Given the description of an element on the screen output the (x, y) to click on. 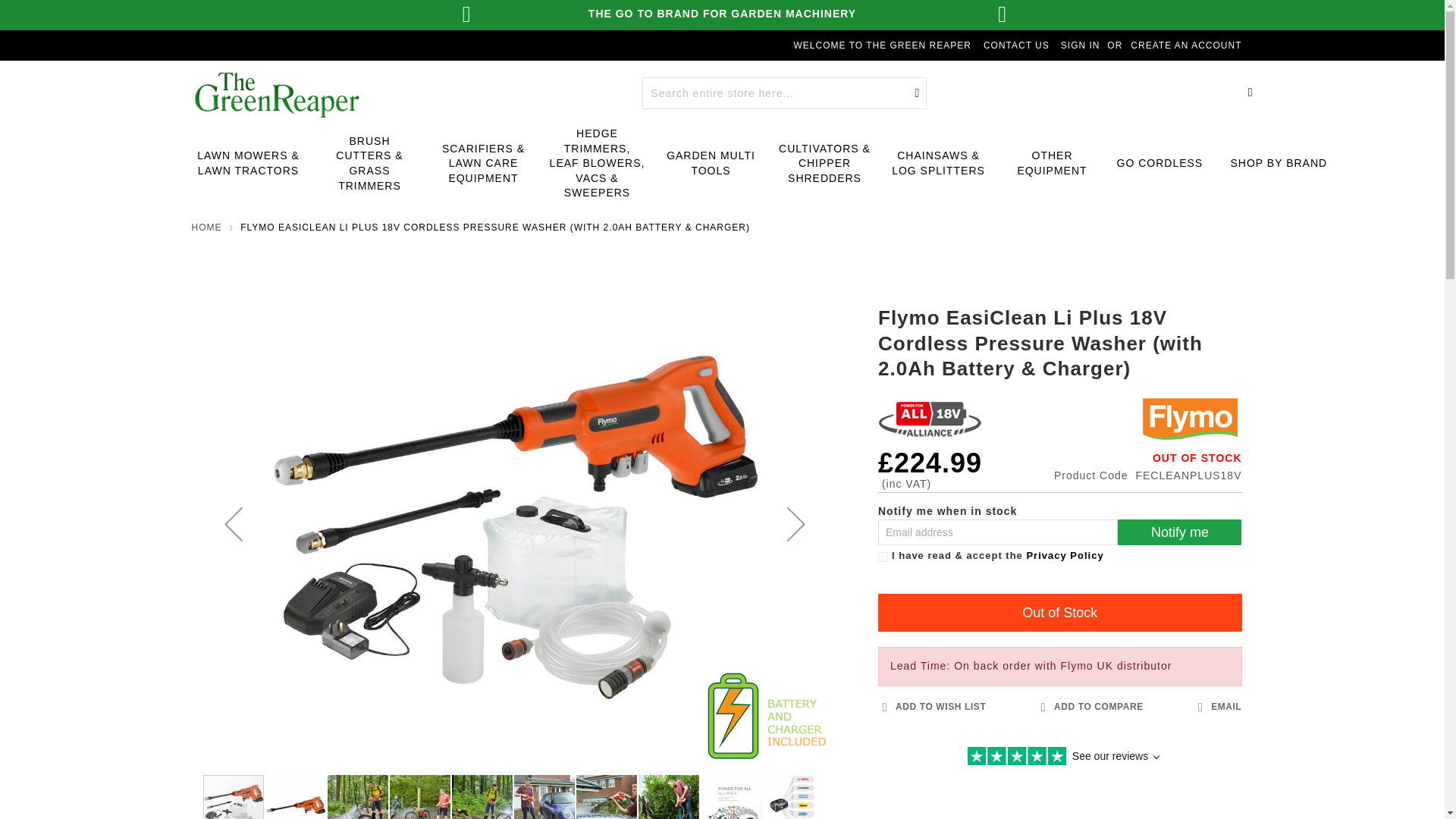
Customer reviews powered by Trustpilot (1059, 757)
SIGN IN (1080, 45)
CONTACT US (1016, 45)
CREATE AN ACCOUNT (1186, 45)
MY BASKET (1250, 92)
Availability (1146, 458)
SEARCH (917, 92)
GDRP (882, 556)
Out of Stock (1059, 612)
1 (882, 556)
Search (917, 92)
Go to Home Page (205, 227)
